Given the description of an element on the screen output the (x, y) to click on. 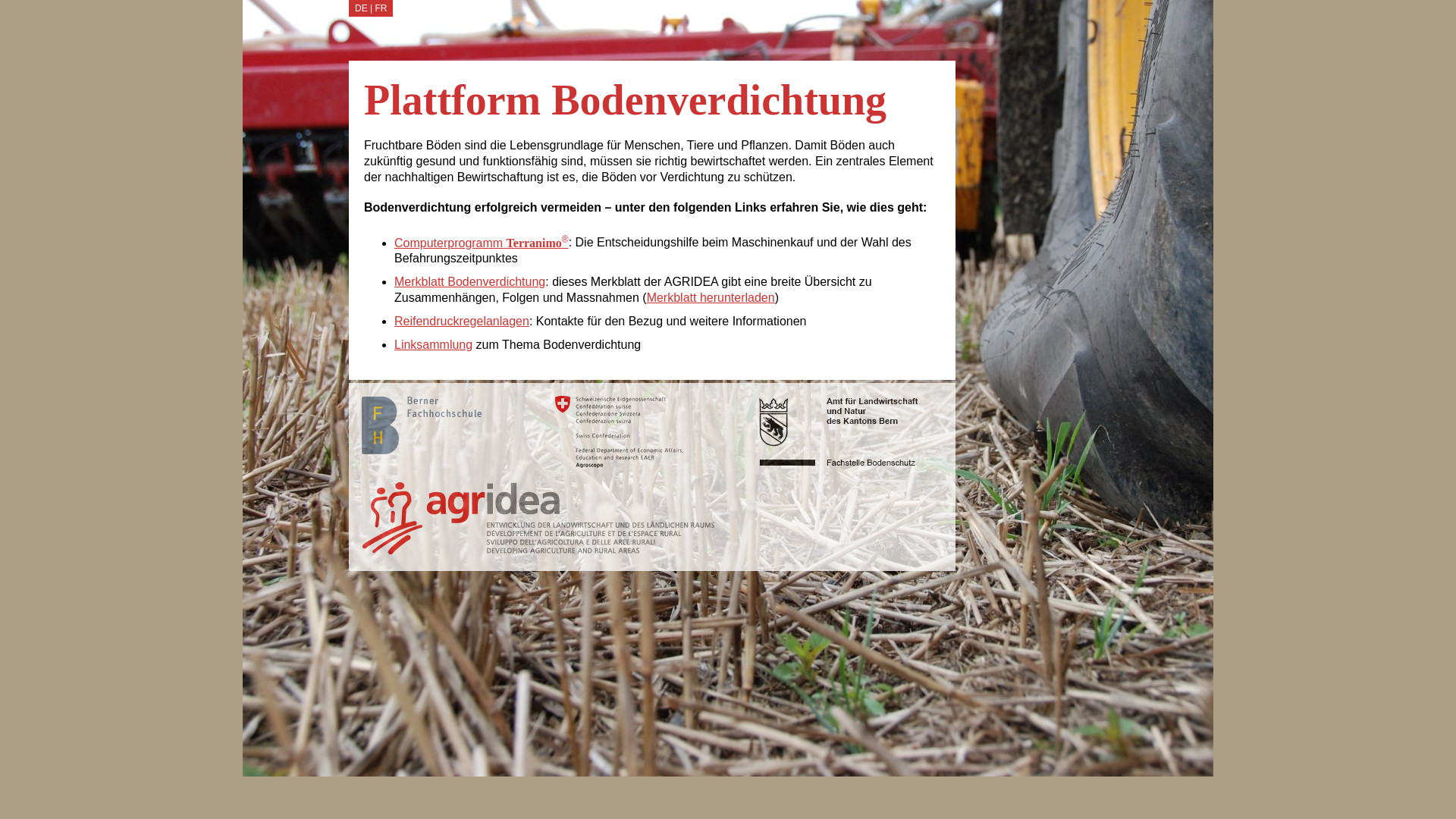
Merkblatt herunterladen Element type: text (710, 297)
Linksammlung Element type: text (433, 344)
DE Element type: text (360, 8)
FR Element type: text (380, 8)
Merkblatt Bodenverdichtung Element type: text (469, 281)
Reifendruckregelanlagen Element type: text (461, 320)
